Given the description of an element on the screen output the (x, y) to click on. 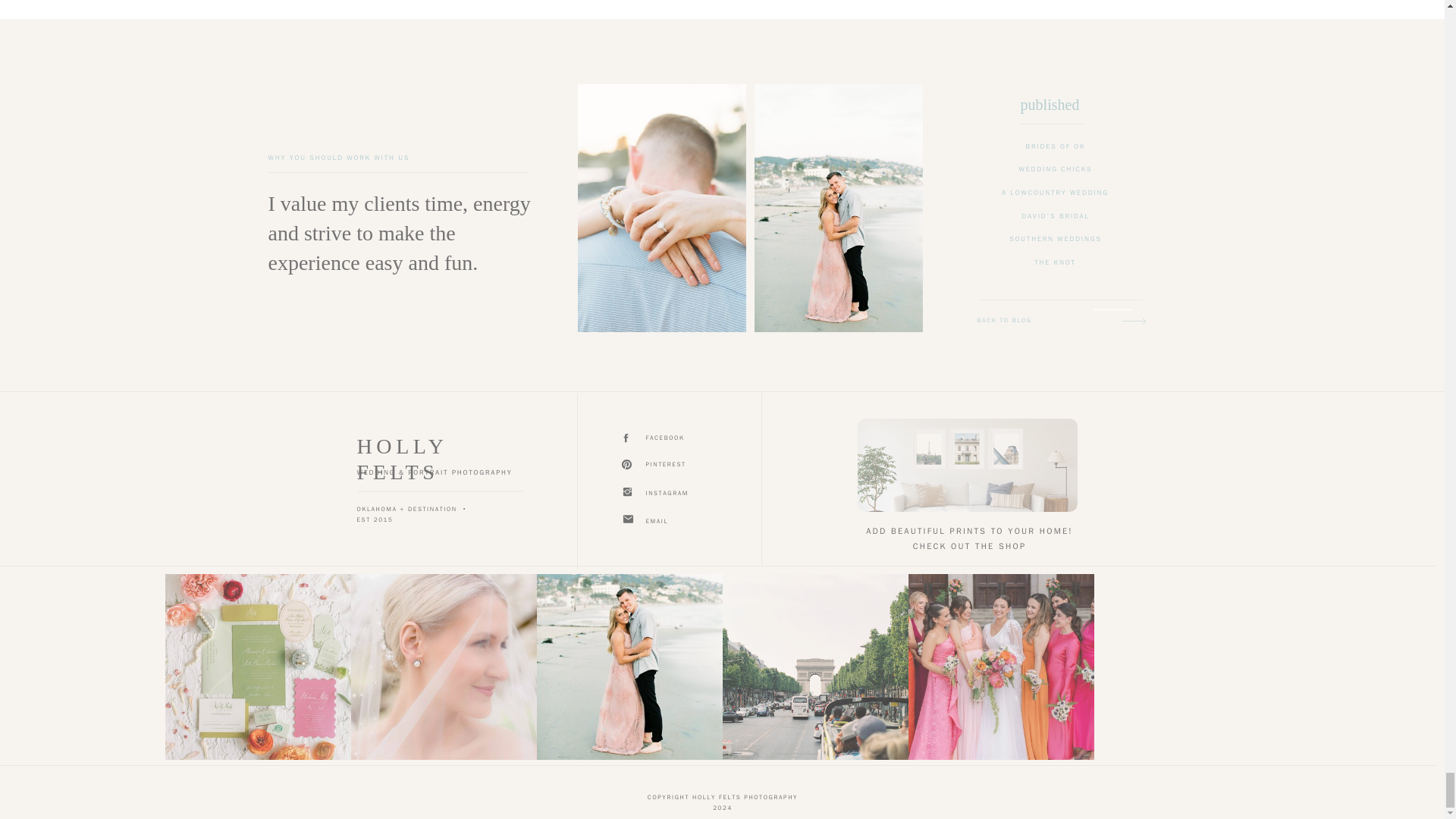
INSTAGRAM (681, 494)
FACEBOOK (681, 438)
EMAIL (681, 522)
PINTEREST (681, 465)
